Given the description of an element on the screen output the (x, y) to click on. 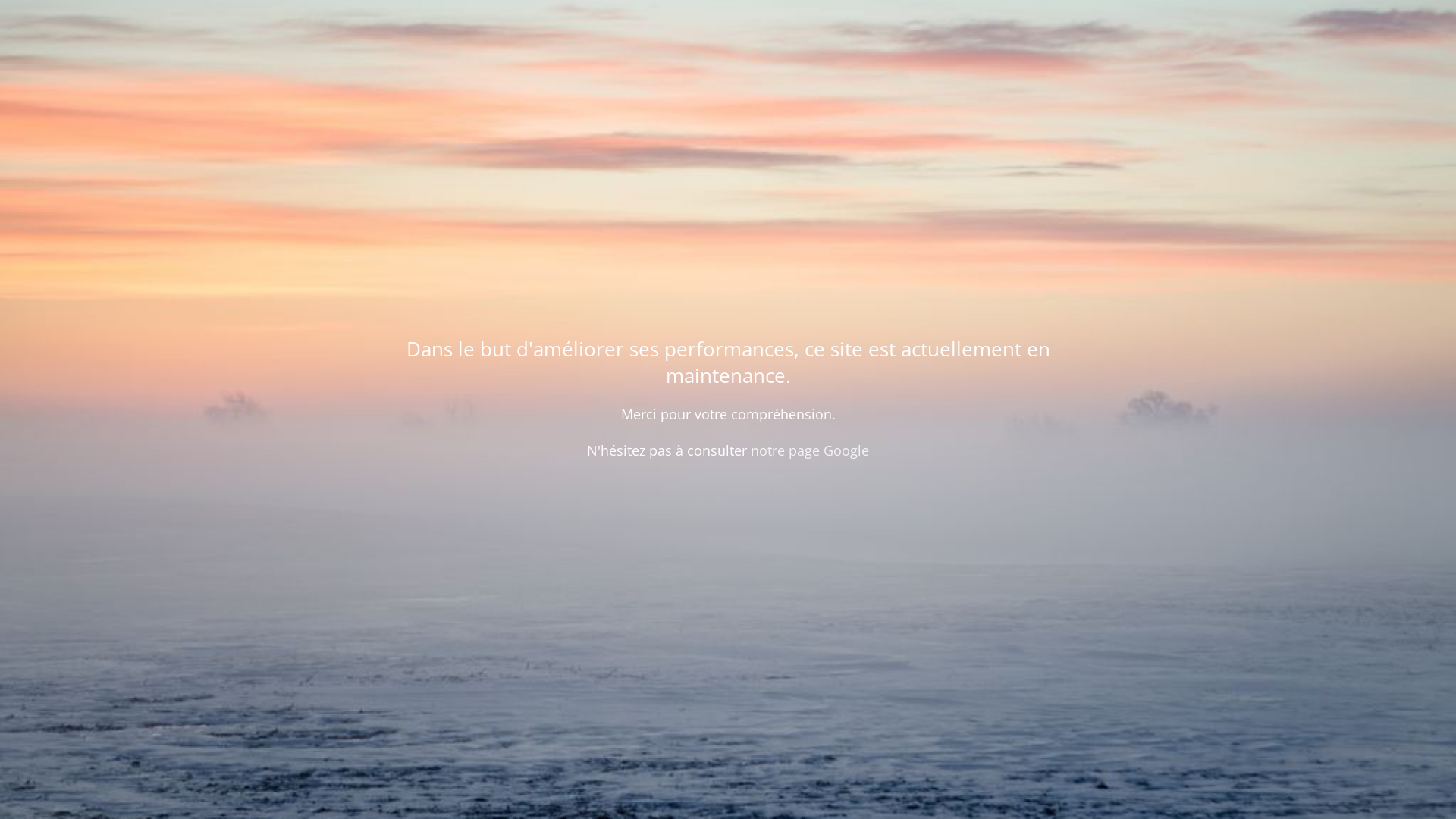
notre page Google Element type: text (809, 450)
